Given the description of an element on the screen output the (x, y) to click on. 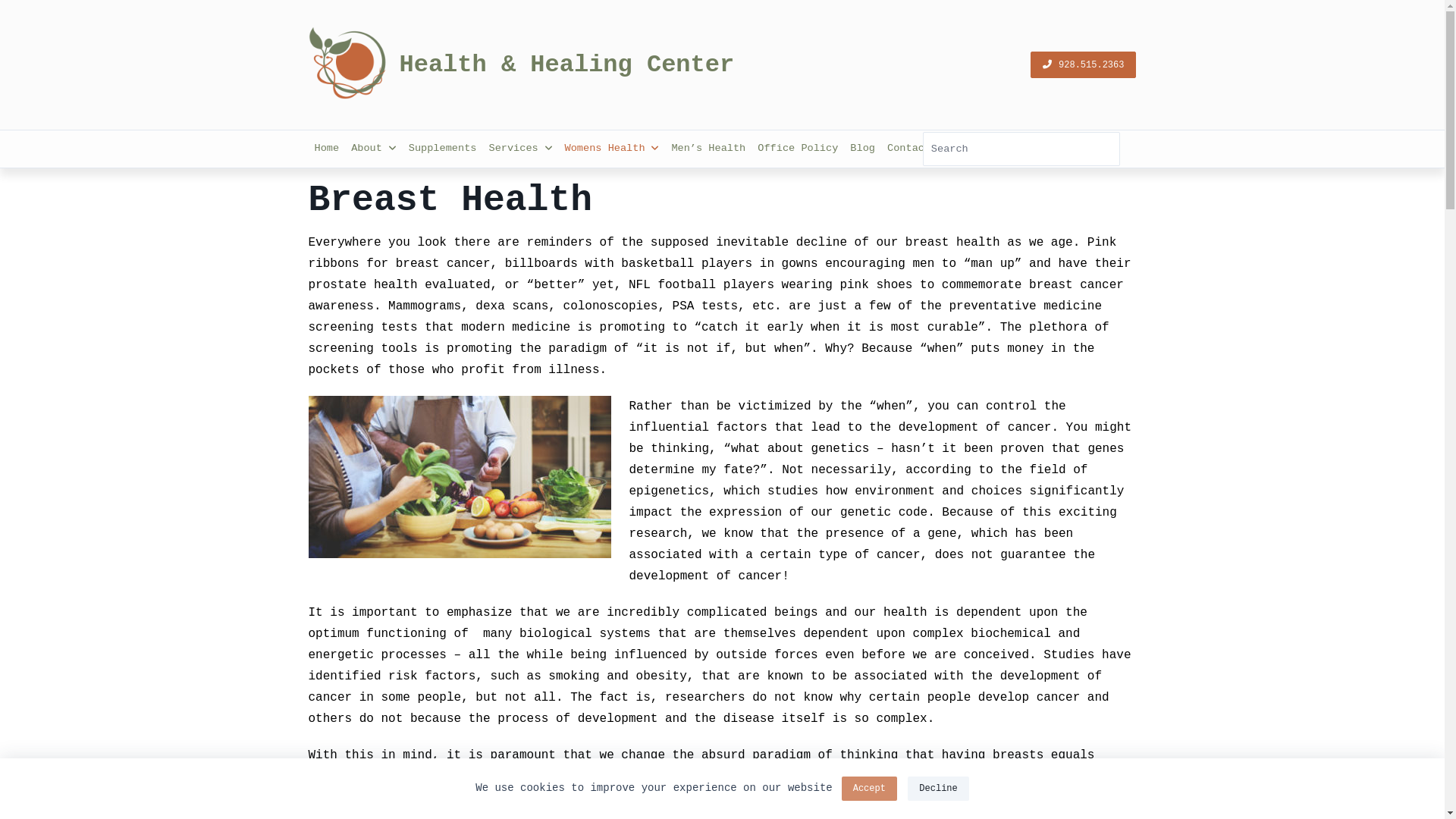
About Element type: text (373, 148)
Supplements Element type: text (442, 148)
928.515.2363 Element type: text (1082, 64)
Services Element type: text (520, 148)
Womens Health Element type: text (611, 148)
Home Element type: text (326, 148)
Health & Healing Center Element type: text (566, 64)
Blog Element type: text (862, 148)
Decline Element type: text (937, 788)
Accept Element type: text (869, 788)
Contact Element type: text (908, 148)
Office Policy Element type: text (797, 148)
